Given the description of an element on the screen output the (x, y) to click on. 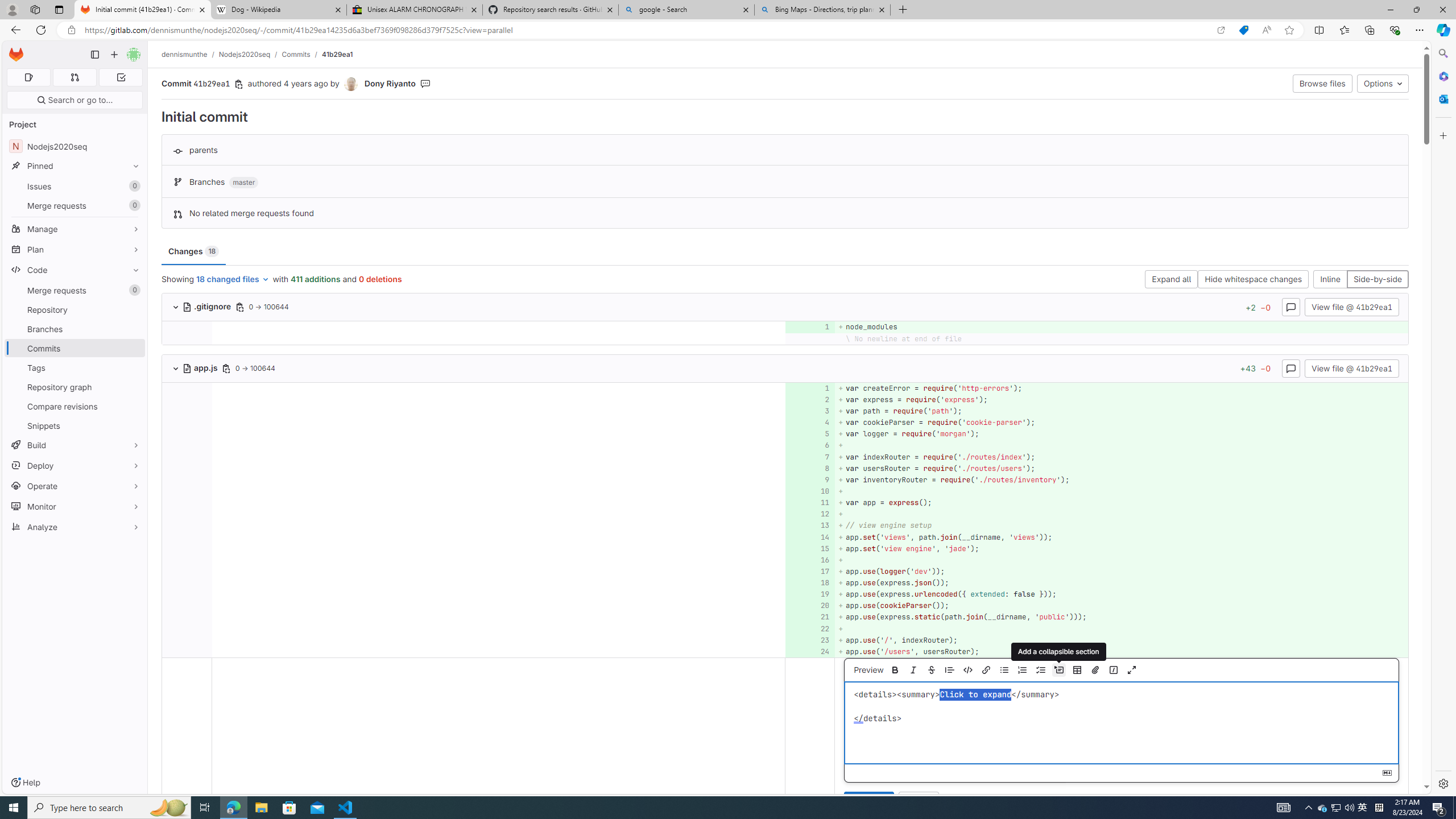
Class: line_content parallel left-side (497, 651)
Dog - Wikipedia (277, 9)
Add a comment to this line 17 (809, 571)
Copy file path (225, 368)
Repository graph (74, 386)
Add a comment to this line 19 (809, 594)
Add a comment to this line 13 (809, 525)
Dony Riyanto's avatar (350, 83)
Nodejs2020seq/ (250, 53)
+ app.use(logger('dev'));  (1120, 571)
Unpin Merge requests (132, 290)
